Given the description of an element on the screen output the (x, y) to click on. 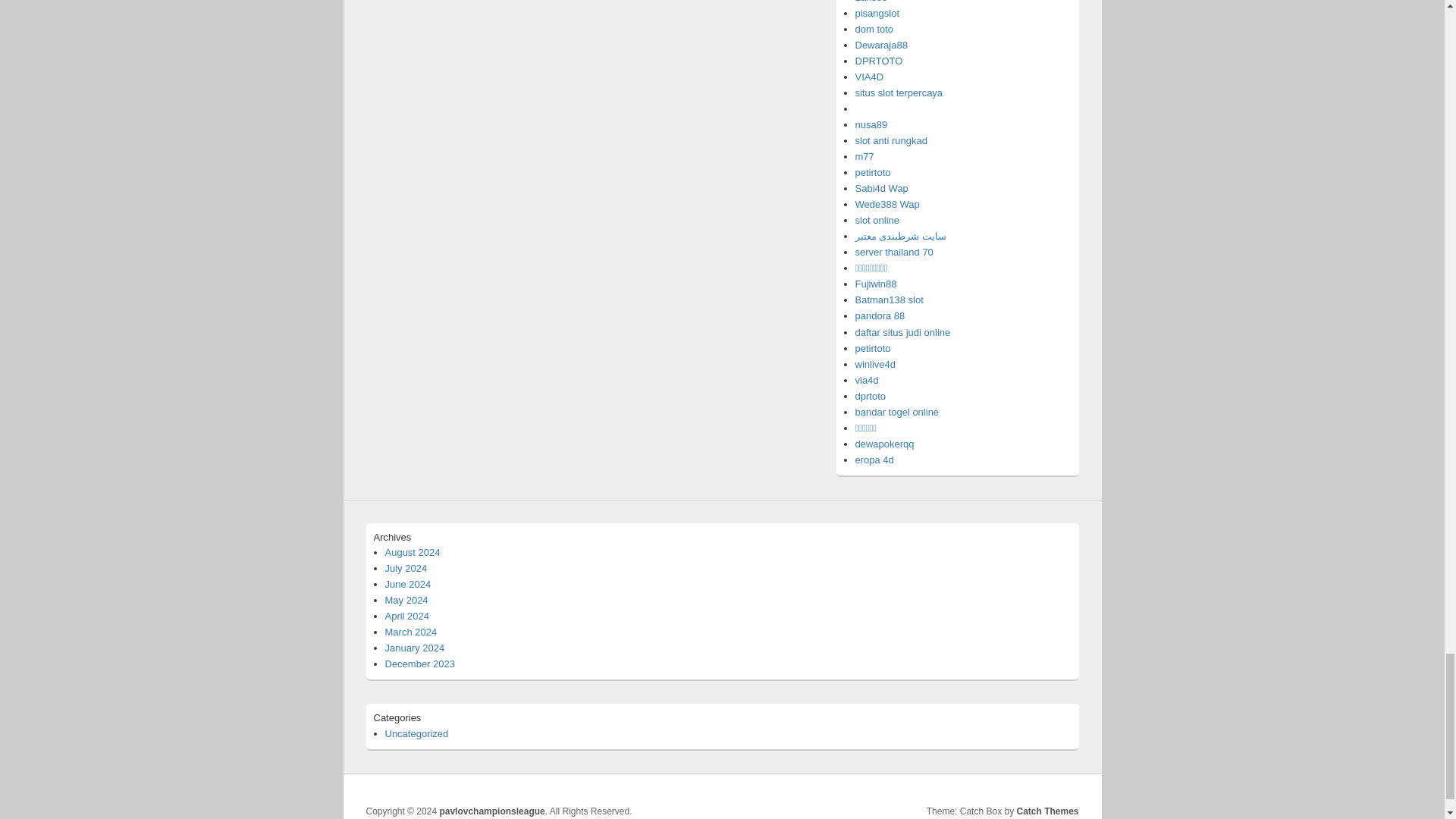
pavlovchampionsleague (491, 810)
Catch Themes (1047, 810)
